Given the description of an element on the screen output the (x, y) to click on. 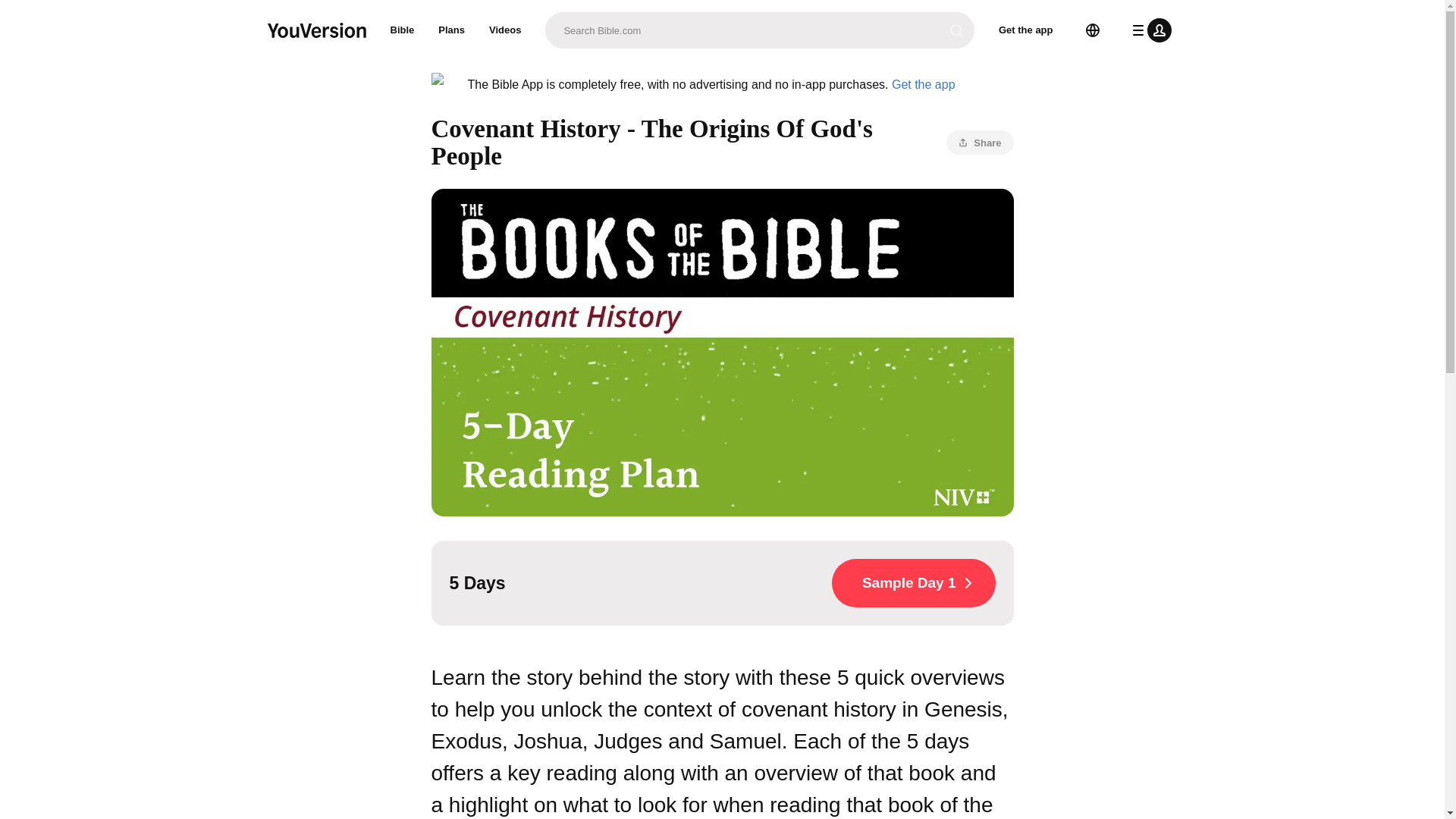
Get the app (1026, 29)
Plans (451, 29)
Bible (401, 29)
Share (979, 142)
Sample Day 1 (913, 582)
Bible Icon (442, 84)
Get the app (923, 83)
Videos (504, 29)
